Given the description of an element on the screen output the (x, y) to click on. 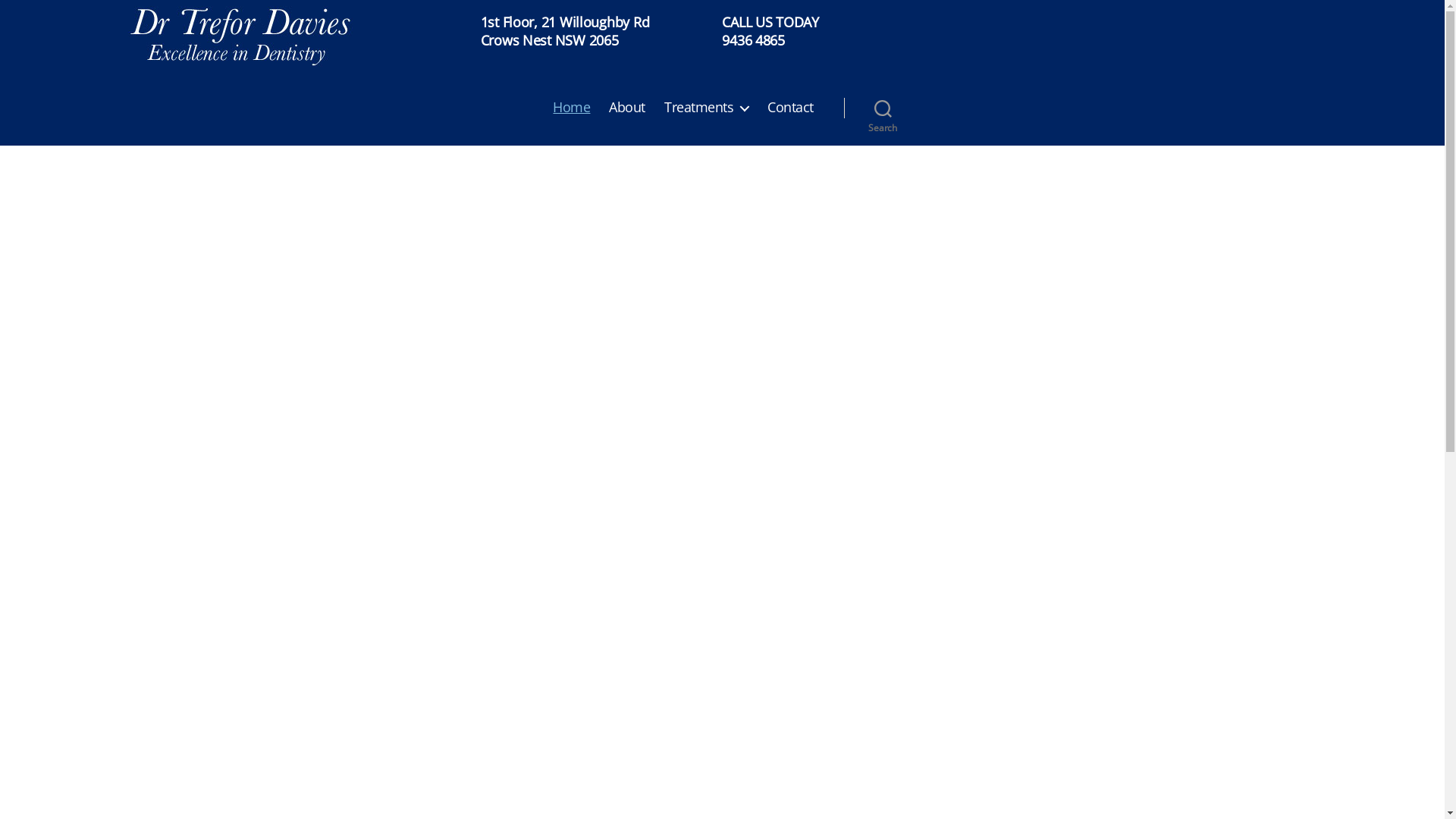
Treatments Element type: text (706, 107)
Home Element type: text (570, 107)
CALL US TODAY
9436 4865 Element type: text (770, 30)
About Element type: text (626, 107)
Contact Element type: text (790, 107)
Search Element type: text (883, 107)
